Given the description of an element on the screen output the (x, y) to click on. 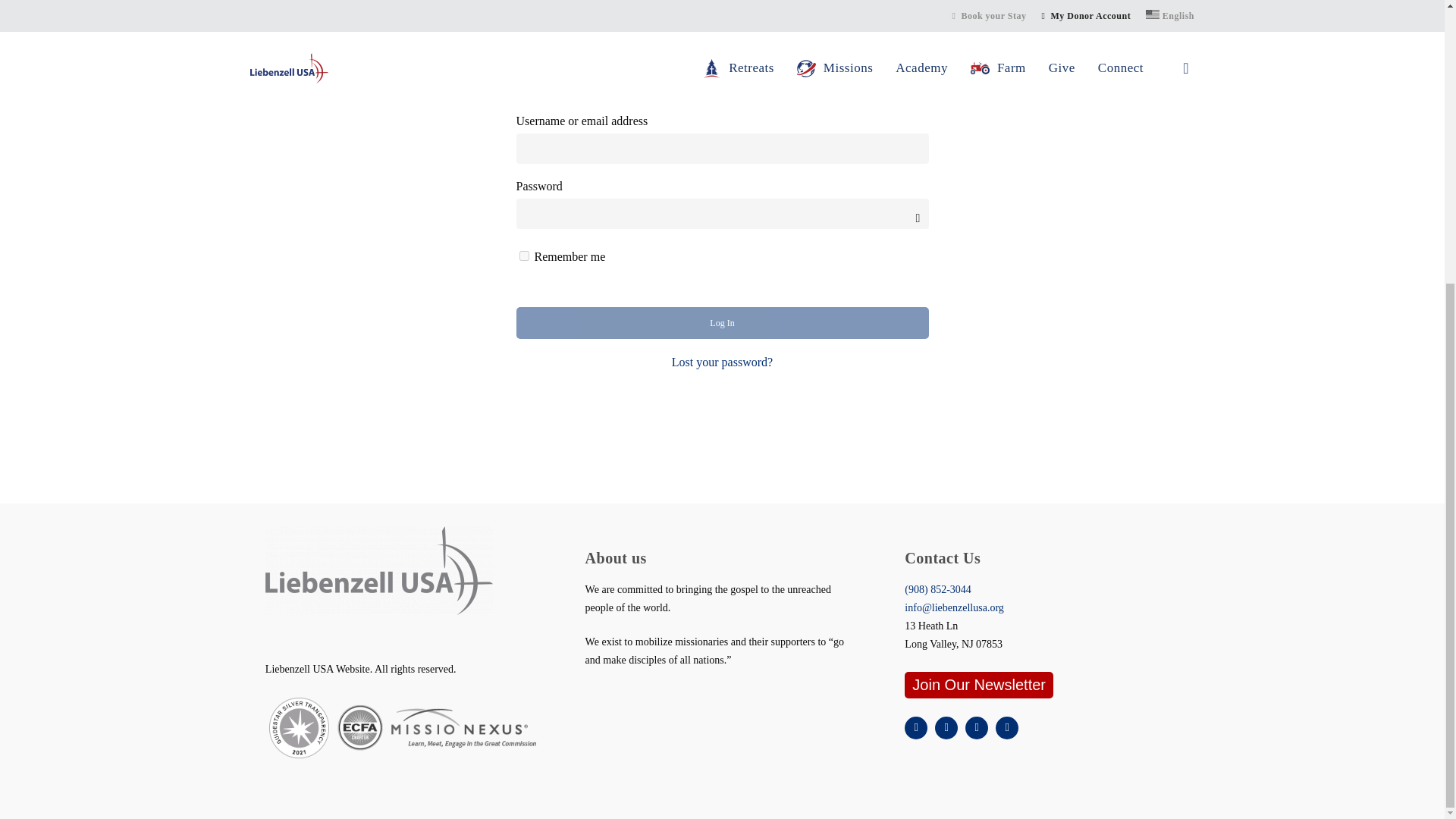
forever (523, 255)
